Given the description of an element on the screen output the (x, y) to click on. 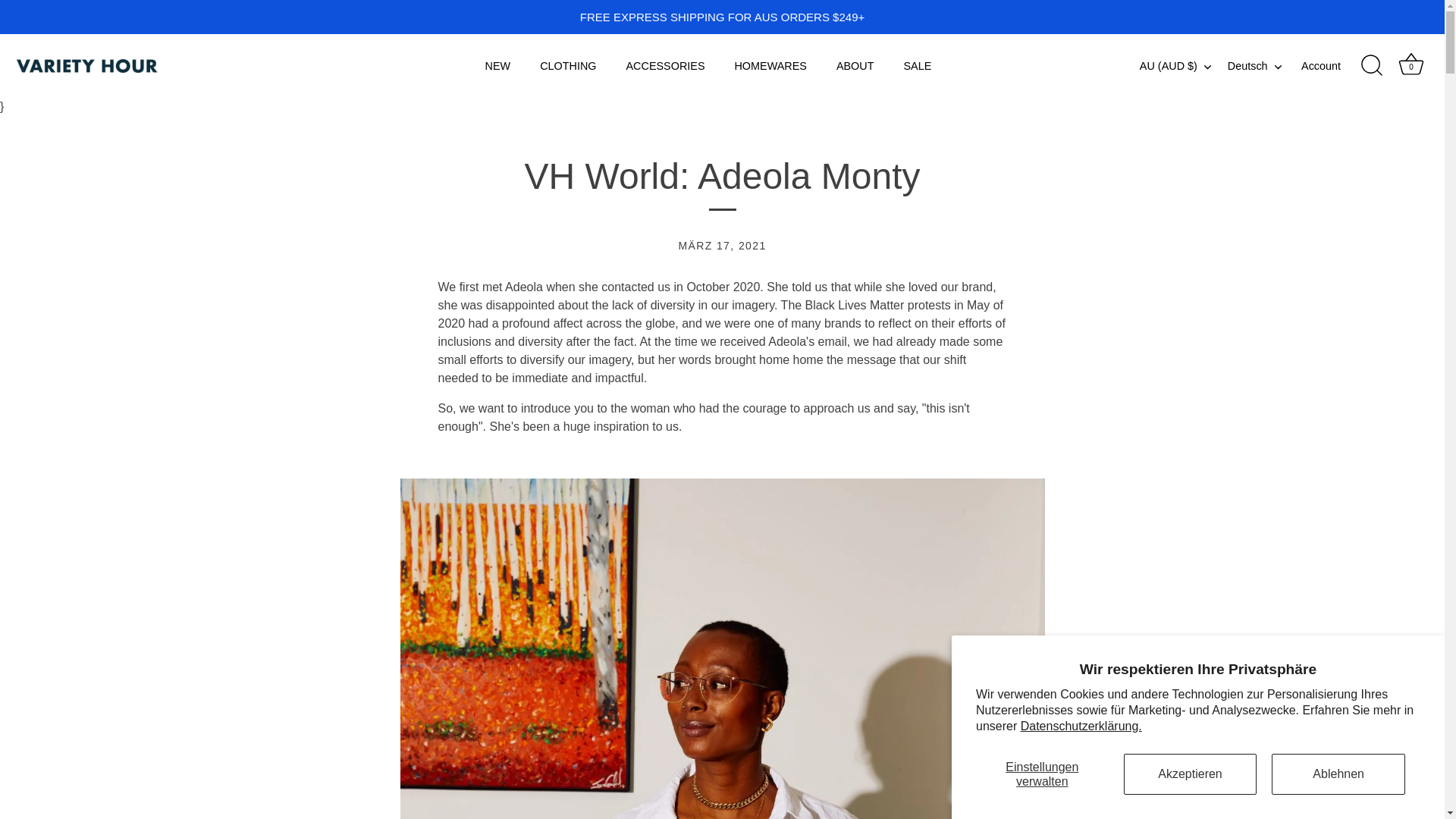
Akzeptieren (1190, 773)
Ablehnen (1338, 773)
ACCESSORIES (664, 65)
HOMEWARES (769, 65)
CLOTHING (568, 65)
NEW (496, 65)
Einstellungen verwalten (1041, 773)
Basket (1410, 63)
